Given the description of an element on the screen output the (x, y) to click on. 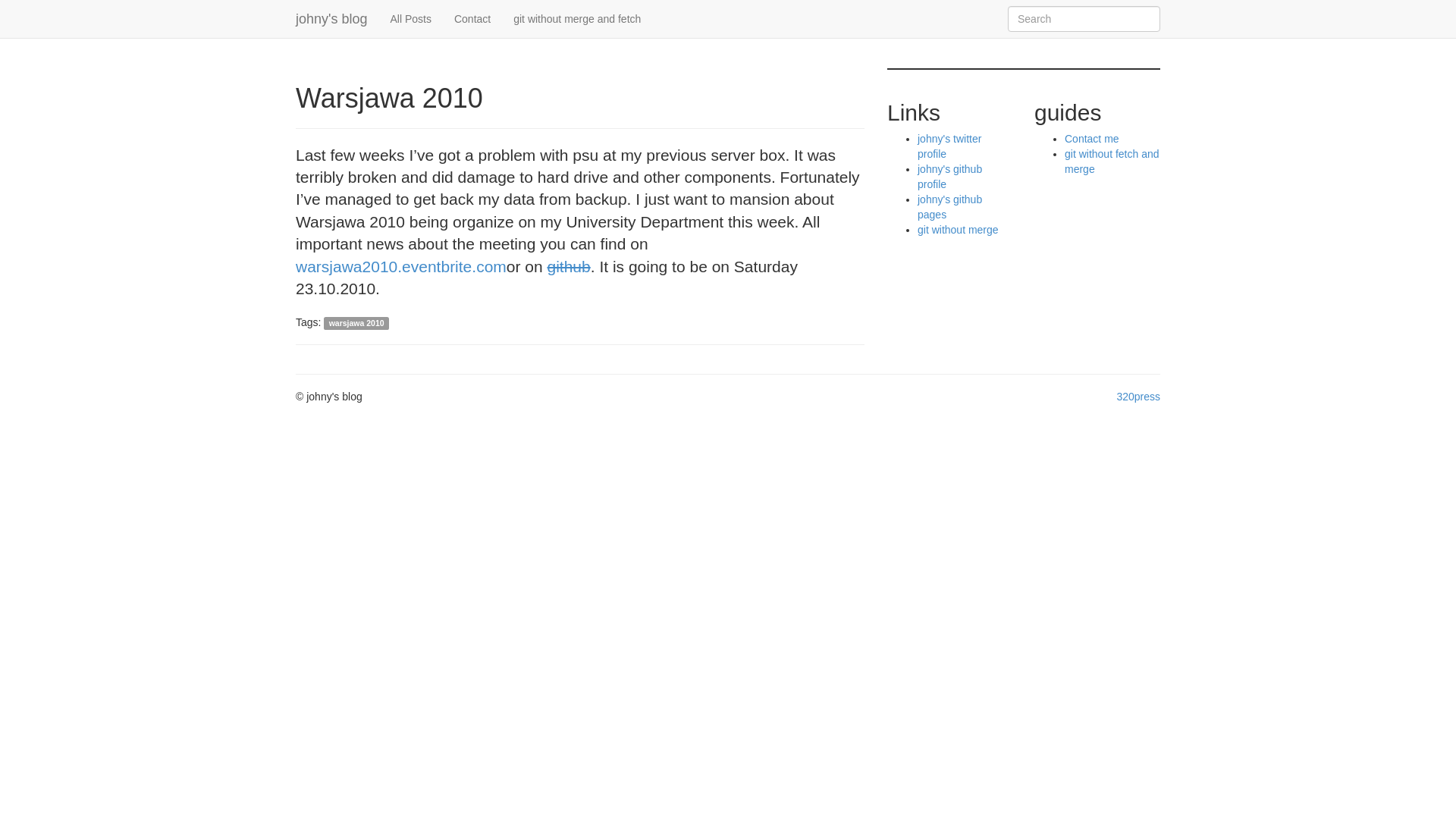
Contact me (1091, 138)
Software development tips. (330, 18)
johny's twitter profile (949, 145)
git without fetch and merge (1111, 161)
320press (1138, 396)
warsjawa 2010 (355, 323)
Contact (472, 18)
git without merge (957, 229)
github (569, 266)
johny's github pages (949, 206)
